Given the description of an element on the screen output the (x, y) to click on. 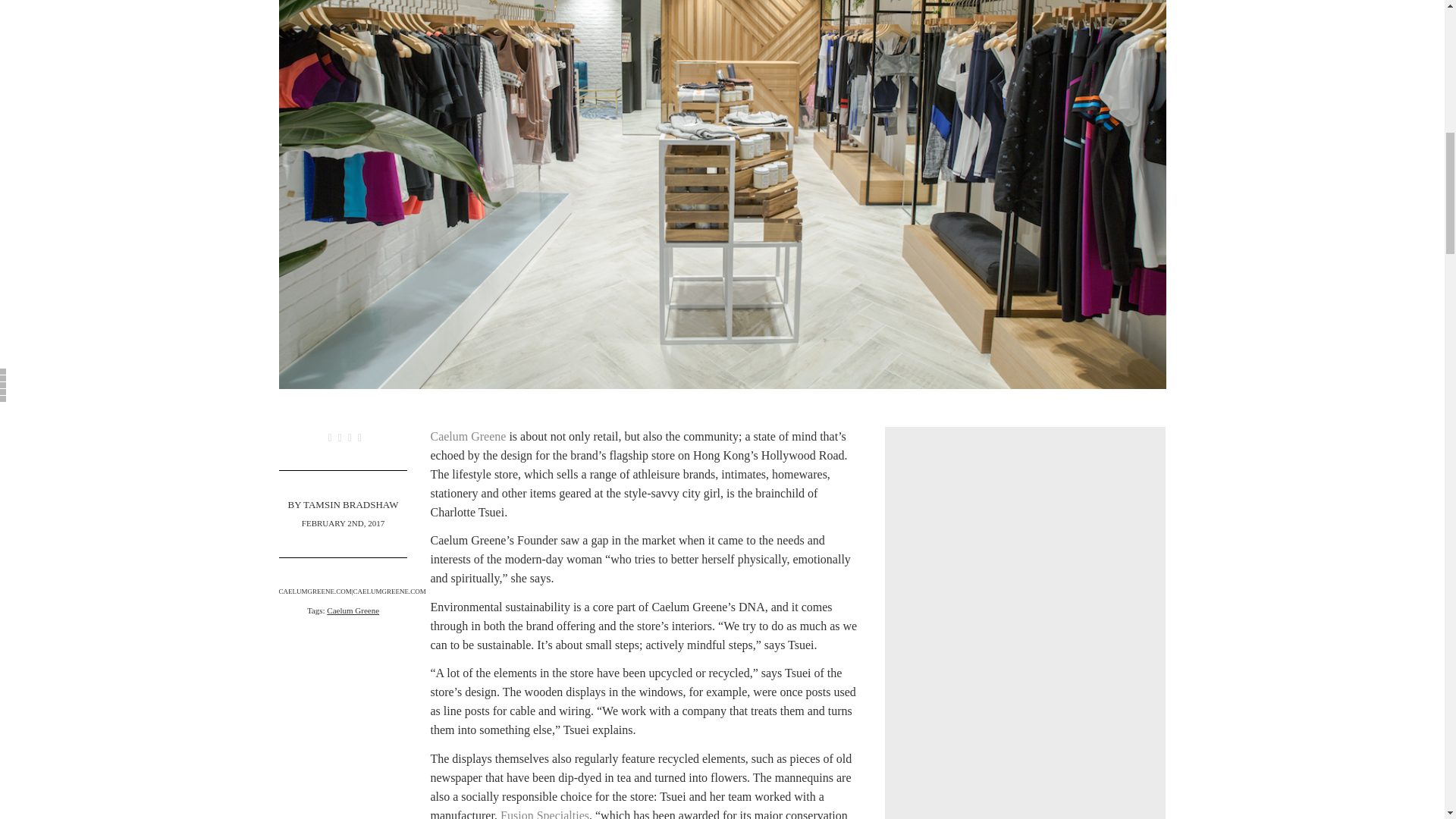
Posts by Tamsin Bradshaw (349, 504)
3rd party ad content (1024, 635)
